Given the description of an element on the screen output the (x, y) to click on. 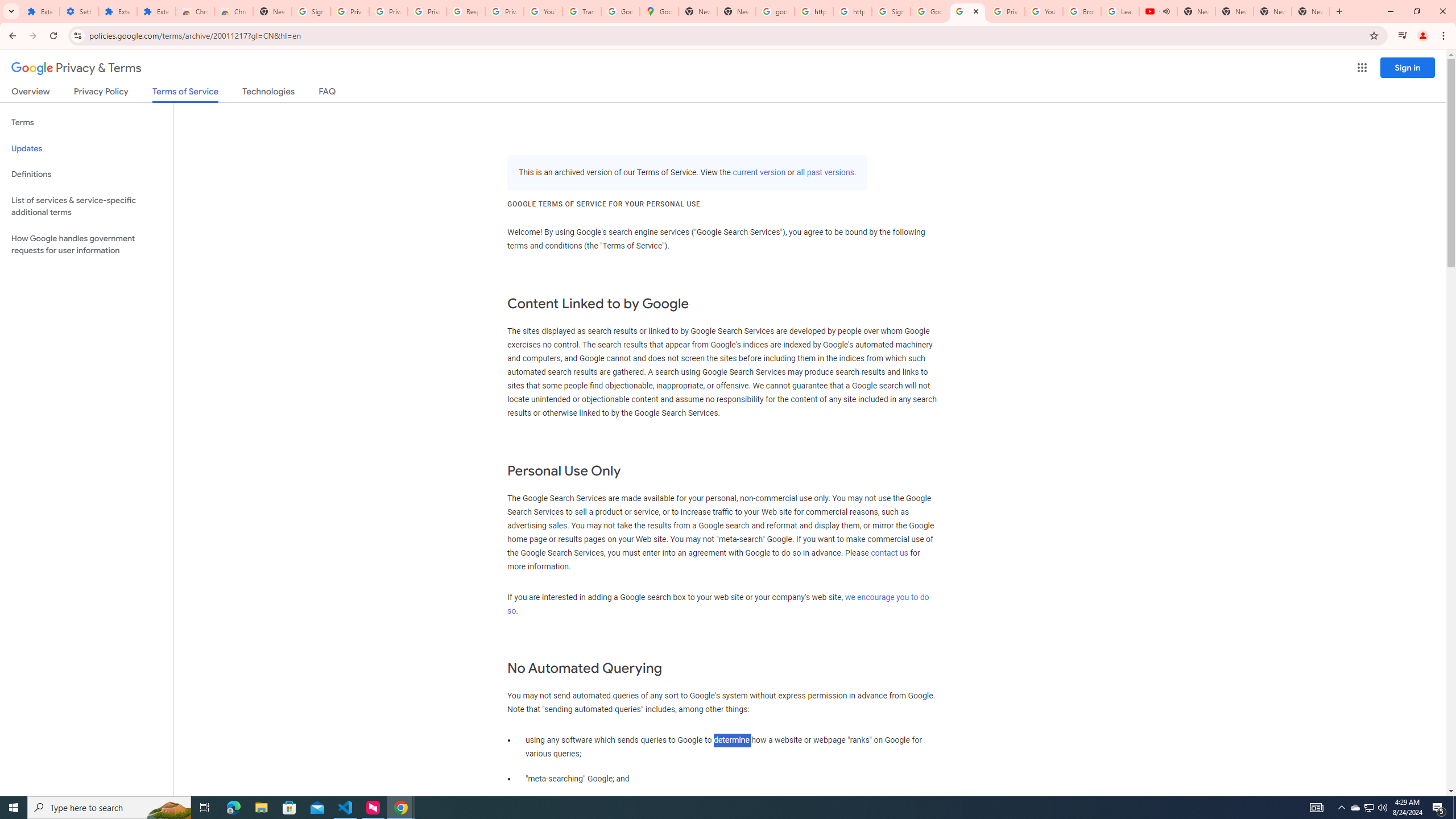
Mute tab (1165, 10)
List of services & service-specific additional terms (86, 206)
New Tab (272, 11)
Extensions (156, 11)
https://scholar.google.com/ (852, 11)
current version (759, 172)
Chrome Web Store - Themes (233, 11)
YouTube (542, 11)
contact us (889, 552)
